Given the description of an element on the screen output the (x, y) to click on. 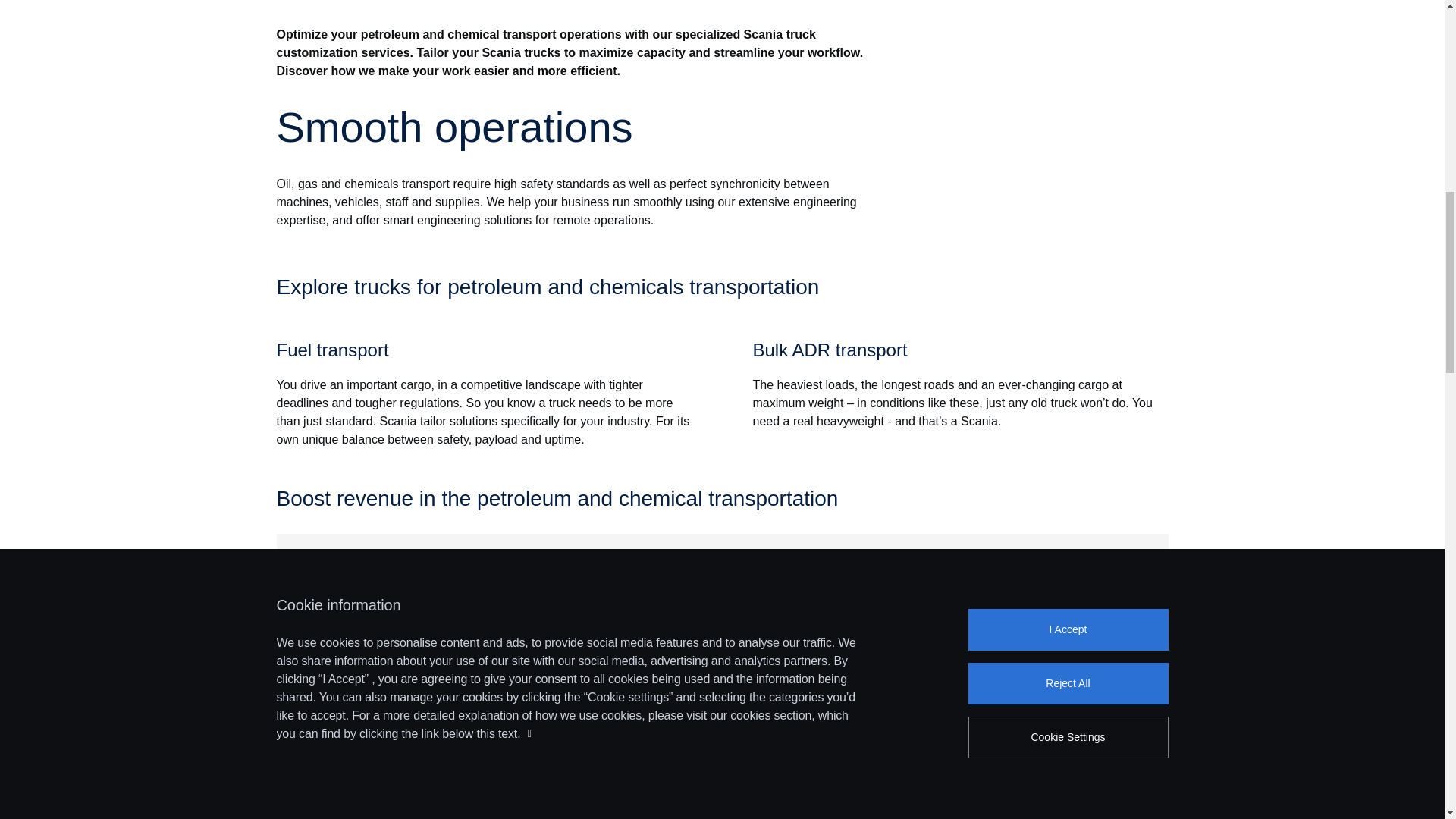
Boost revenue in the petroleum and chemical transportation (721, 498)
Bulk ADR transport (959, 350)
Smooth operations (573, 127)
Explore trucks for petroleum and chemicals transportation (721, 287)
Fuel transport (483, 350)
Safety (424, 599)
